Given the description of an element on the screen output the (x, y) to click on. 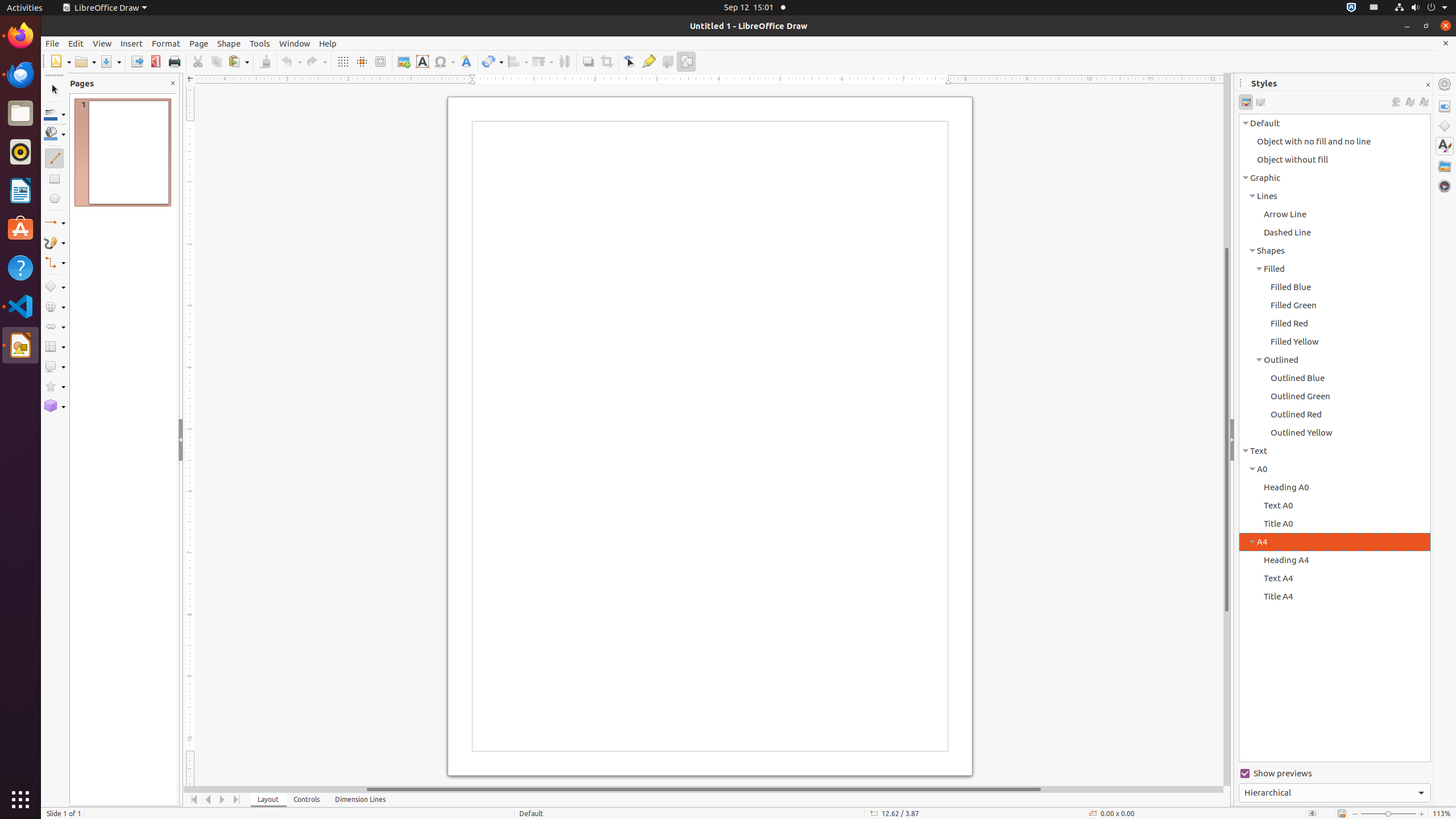
Styles Element type: radio-button (1444, 146)
:1.21/StatusNotifierItem Element type: menu (1373, 7)
Paste Element type: push-button (237, 61)
Edit Points Element type: push-button (629, 61)
Redo Element type: push-button (315, 61)
